Given the description of an element on the screen output the (x, y) to click on. 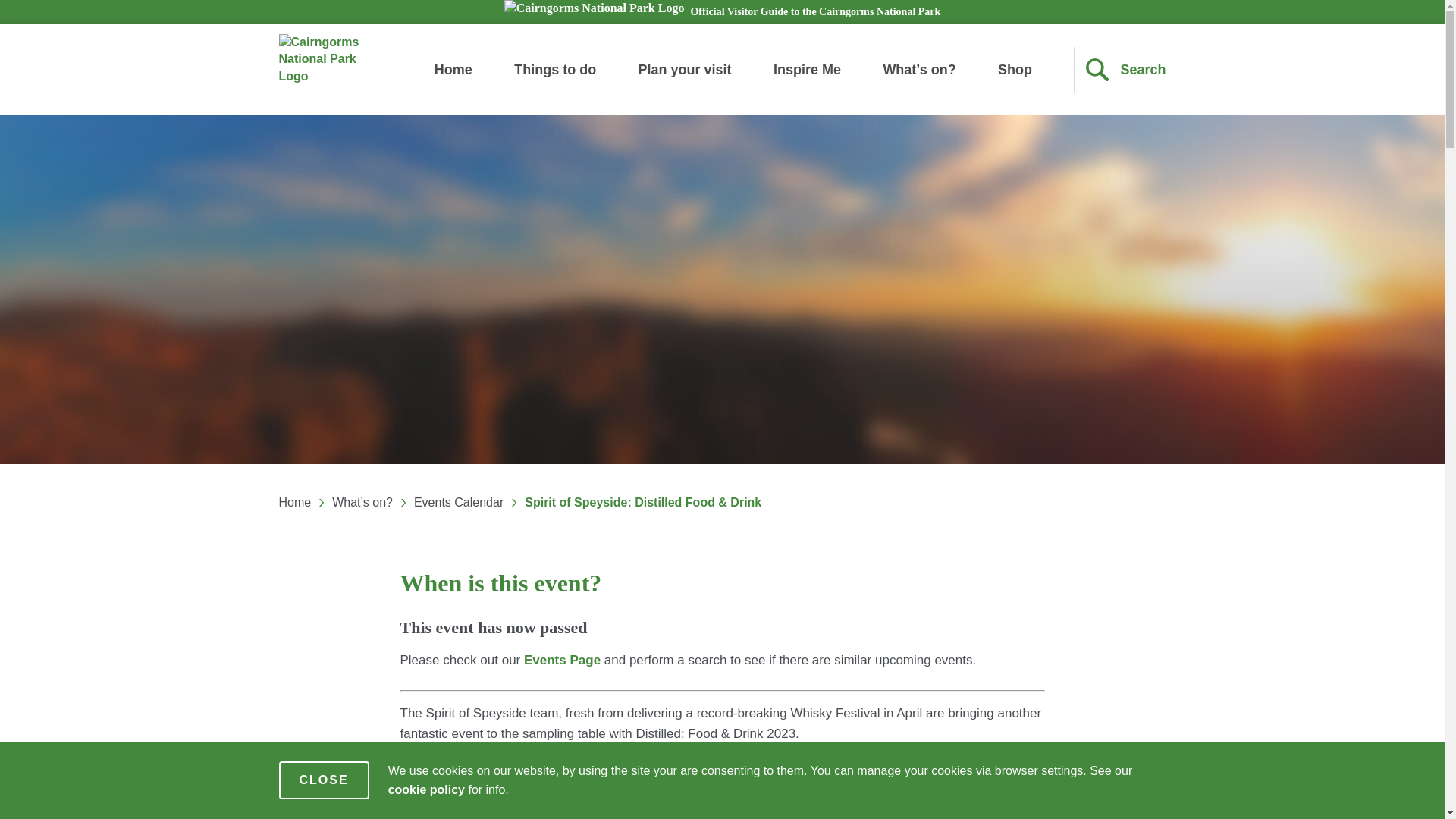
cookie policy (426, 789)
CLOSE (324, 780)
Things to do (554, 69)
